Given the description of an element on the screen output the (x, y) to click on. 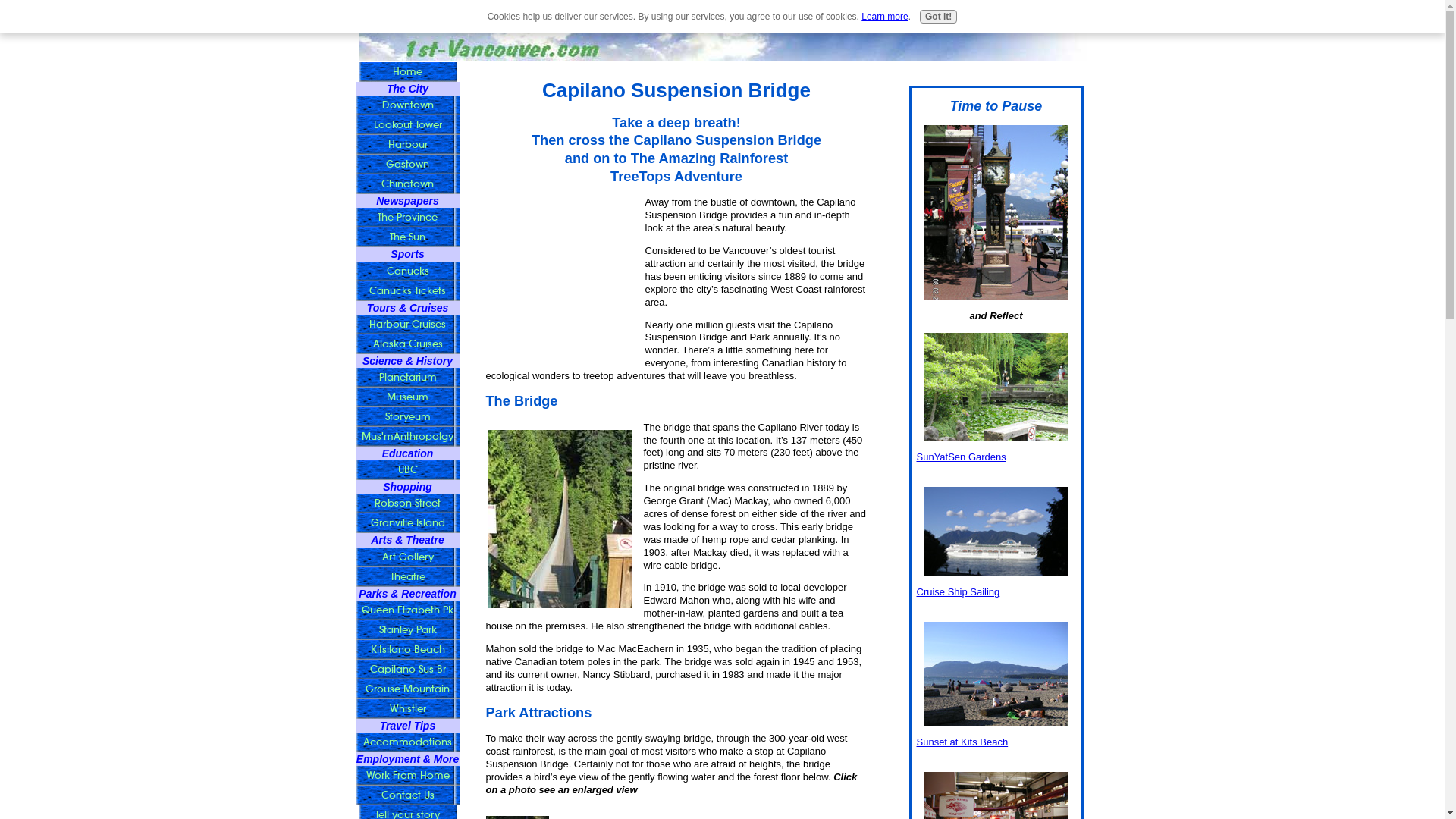
Gastown Element type: text (406, 164)
.. Element type: hover (560, 518)
Grouse Mountain Element type: text (406, 689)
SunYatSen Gardens Element type: text (960, 456)
UBC Element type: text (406, 470)
Stanley Park Element type: text (406, 630)
Whistler Element type: text (406, 708)
Granville Island Element type: text (406, 523)
Capilano Sus Br Element type: text (406, 669)
Kitsilano Beach Element type: text (406, 649)
Canucks Element type: text (406, 271)
Robson Street Element type: text (406, 503)
Gastown Steam Clock Element type: hover (995, 212)
Queen Elizabeth Pk Element type: text (406, 610)
Sunset at Kits Beach Element type: hover (995, 673)
The Sun Element type: text (406, 237)
Cruise Ship Heading Out Element type: hover (995, 531)
Planetarium Element type: text (406, 377)
Learn more Element type: text (884, 16)
Harbour Element type: text (406, 144)
Advertisement Element type: hover (561, 272)
SunYatSen Garden Element type: hover (995, 386)
Got it! Element type: text (938, 16)
Sunset at Kits Beach Element type: text (961, 741)
Alaska Cruises Element type: text (406, 344)
Home Element type: text (406, 71)
Chinatown Element type: text (406, 184)
Theatre Element type: text (406, 576)
Work From Home Element type: text (406, 775)
The Province Element type: text (406, 217)
Contact Us Element type: text (406, 795)
Art Gallery Element type: text (406, 557)
Mus'mAnthropolgy Element type: text (406, 436)
Storyeum Element type: text (406, 416)
Museum Element type: text (406, 397)
Cruise Ship Sailing Element type: text (957, 591)
Harbour Cruises Element type: text (406, 324)
Downtown Element type: text (406, 105)
Canucks Tickets Element type: text (406, 291)
Accommodations Element type: text (406, 742)
Lookout Tower Element type: text (406, 124)
